Given the description of an element on the screen output the (x, y) to click on. 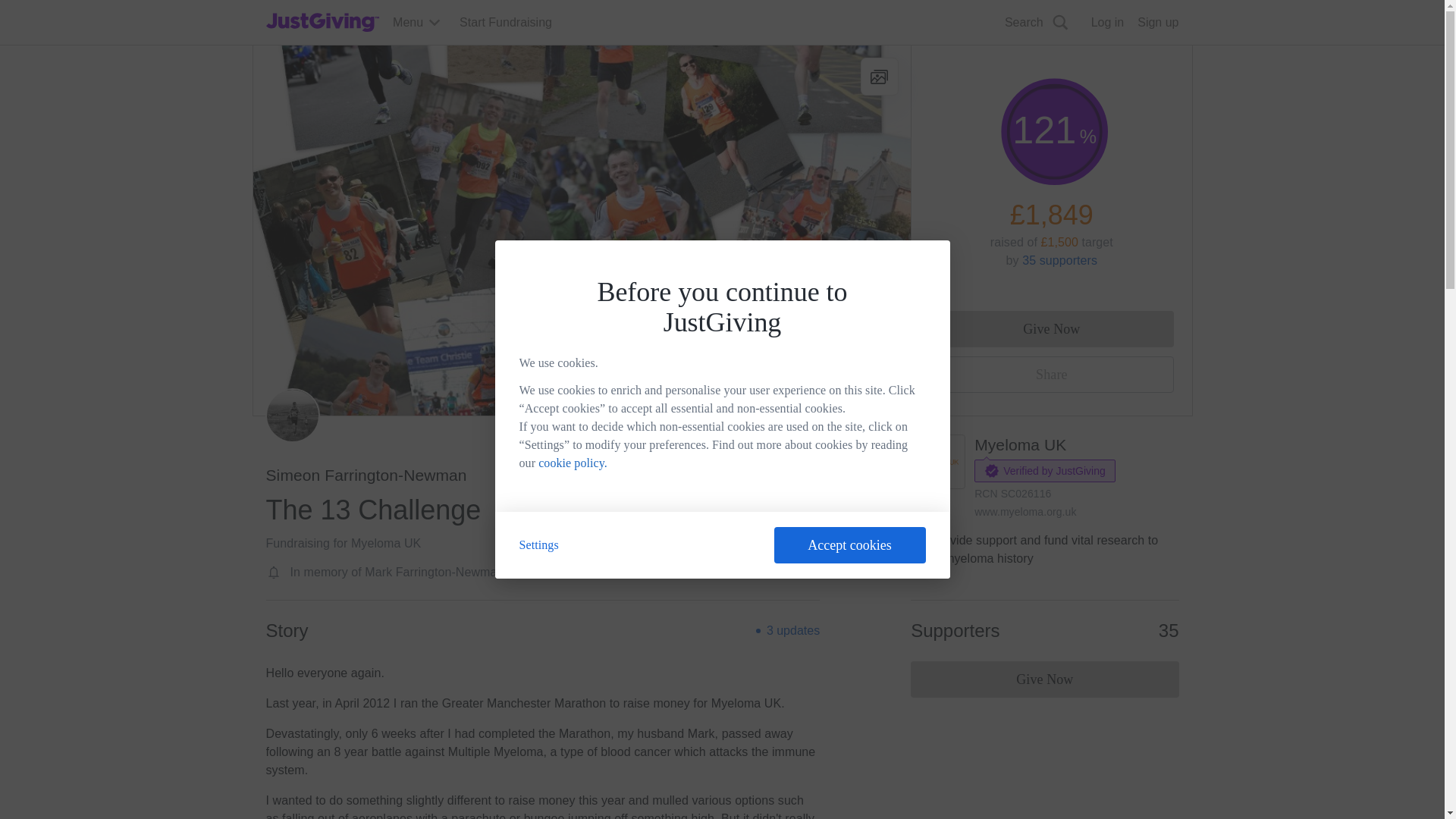
Share (1051, 374)
Myeloma UK (1019, 444)
Settings (537, 544)
Search (1036, 22)
35 supporters (1059, 259)
Search (919, 57)
Start Fundraising (505, 22)
cookie policy. (572, 462)
Menu (416, 22)
Sign up (1157, 22)
3 updates (793, 631)
Log in (1107, 22)
Accept cookies (848, 545)
www.myeloma.org.uk (1024, 511)
